Given the description of an element on the screen output the (x, y) to click on. 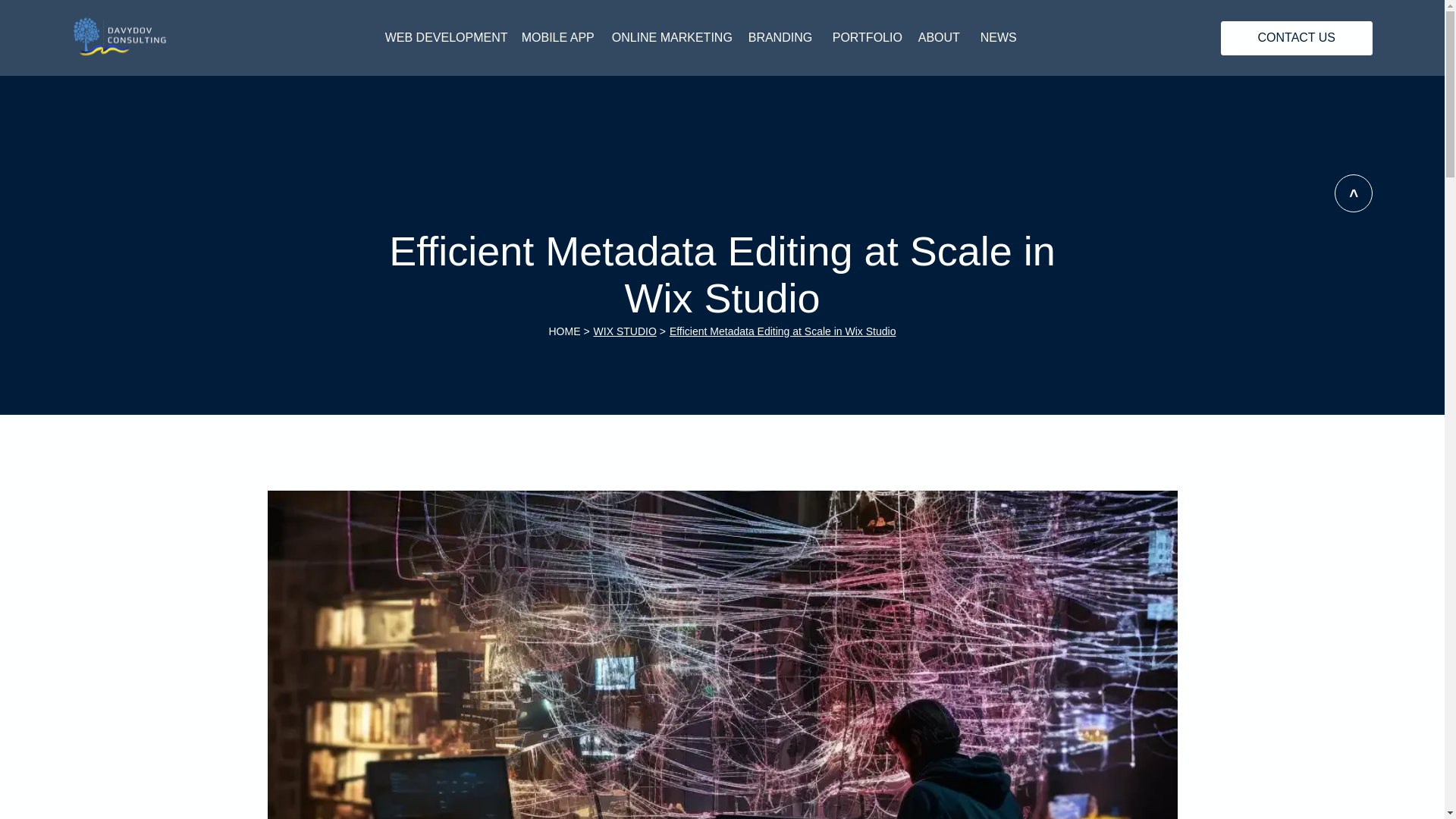
NEWS (997, 37)
WIX STUDIO (625, 331)
WEB DEVELOPMENT (440, 37)
CONTACT US (1297, 38)
ABOUT (936, 37)
MOBILE APP (554, 37)
